Given the description of an element on the screen output the (x, y) to click on. 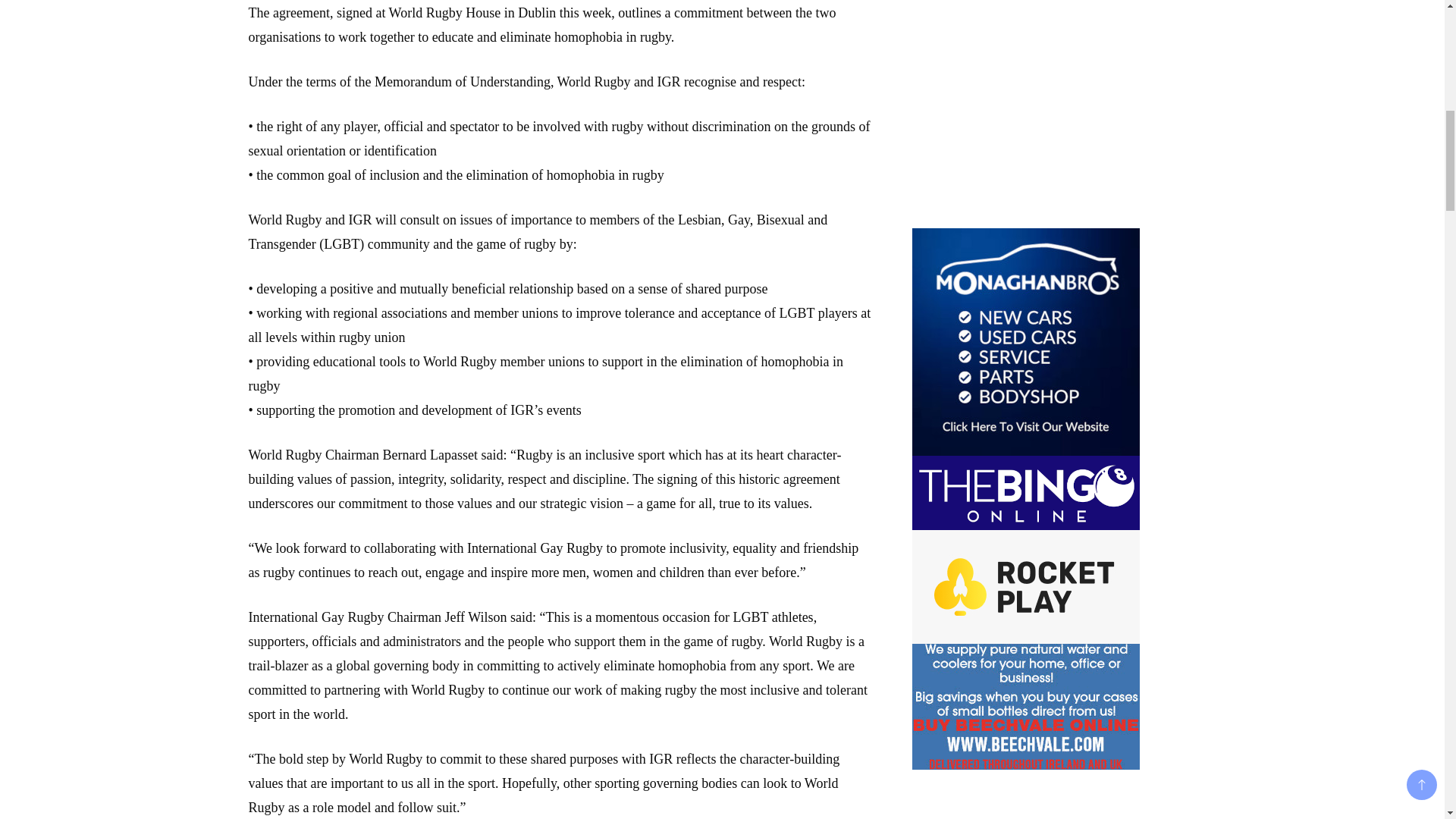
TheBingoOnline (1024, 492)
Advertisement (1024, 110)
